Given the description of an element on the screen output the (x, y) to click on. 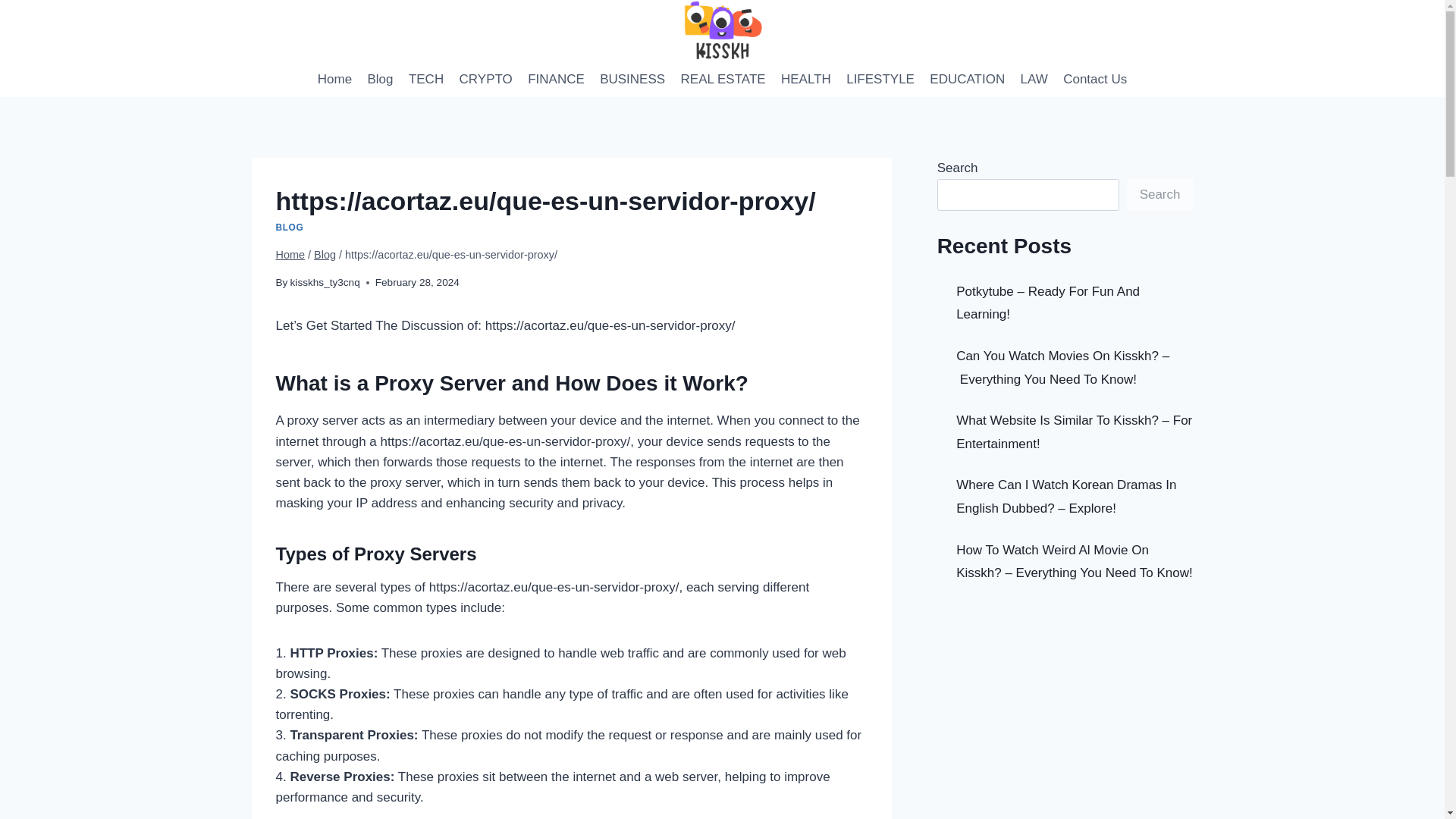
EDUCATION (966, 79)
BLOG (290, 226)
CRYPTO (485, 79)
Blog (379, 79)
Contact Us (1094, 79)
LAW (1033, 79)
Home (290, 254)
LIFESTYLE (879, 79)
REAL ESTATE (722, 79)
BUSINESS (632, 79)
Blog (325, 254)
HEALTH (805, 79)
Home (334, 79)
TECH (426, 79)
FINANCE (555, 79)
